Given the description of an element on the screen output the (x, y) to click on. 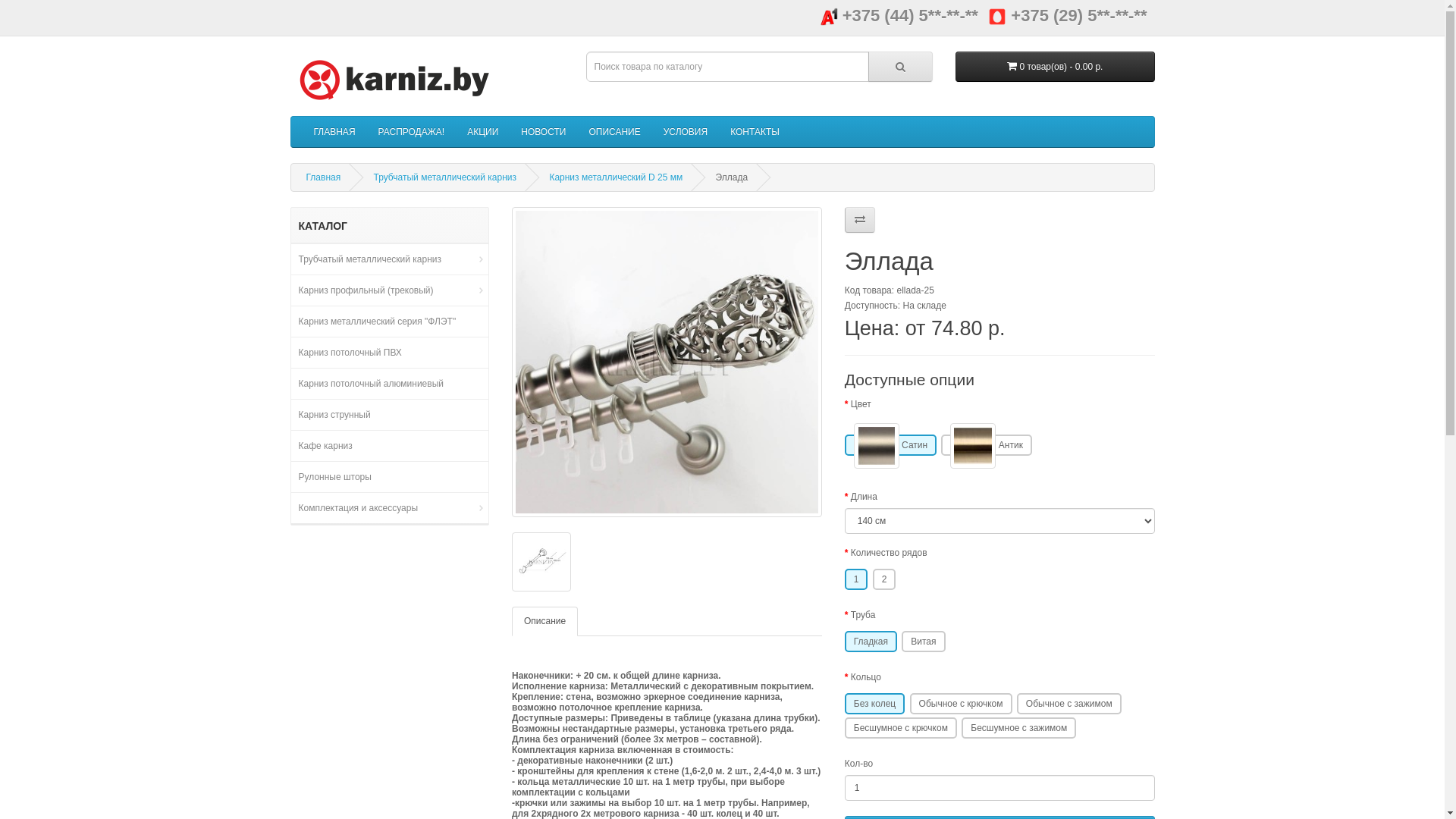
+375 (44) 5**-**-** Element type: text (898, 15)
+375 (29) 5**-**-** Element type: text (1067, 15)
